Given the description of an element on the screen output the (x, y) to click on. 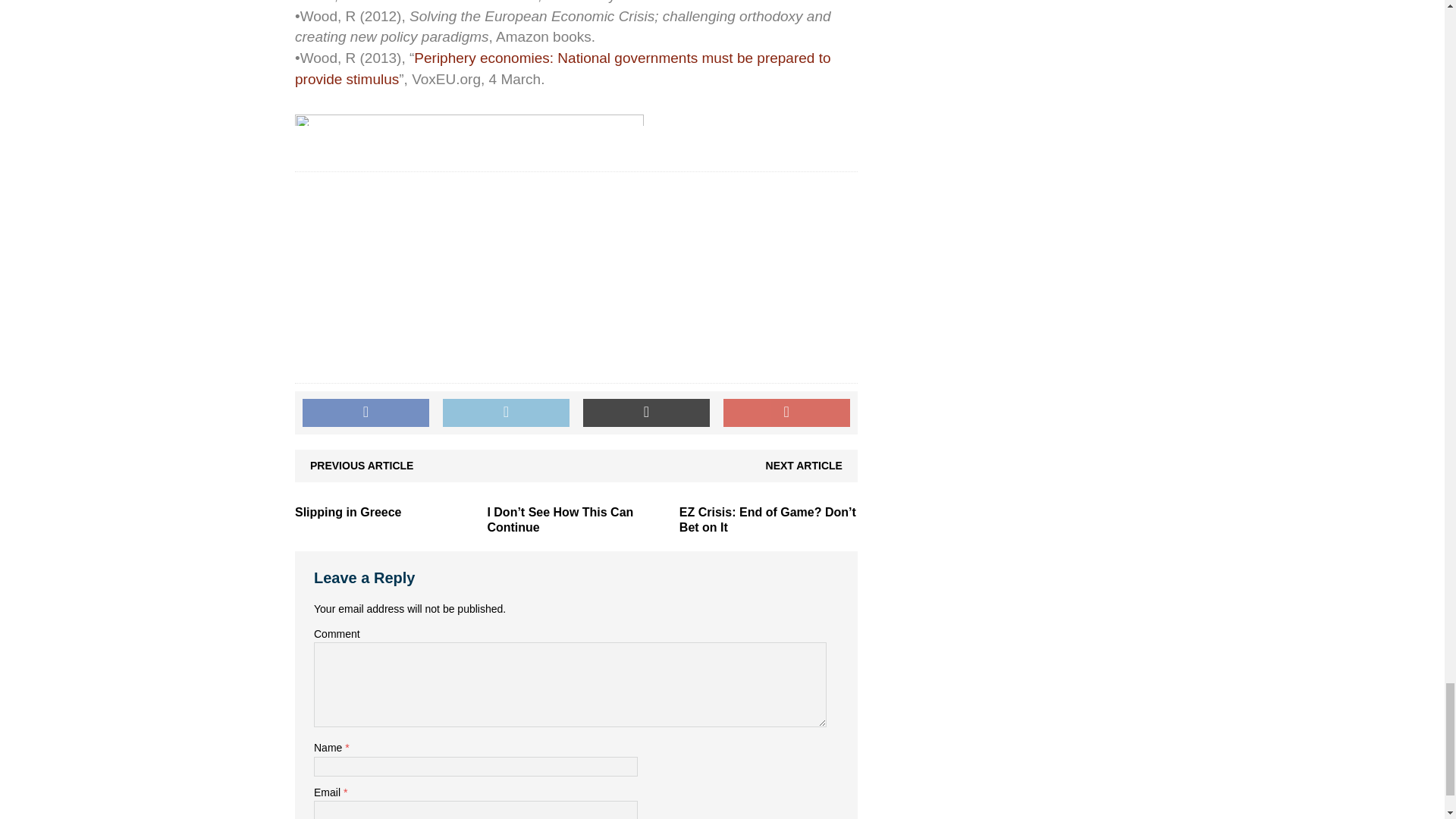
Slipping in Greece (348, 512)
PREVIOUS ARTICLE (361, 465)
Share on Reddit (646, 412)
NEXT ARTICLE (804, 465)
Tweet This Post (505, 412)
Slipping in Greece (348, 512)
Share on Facebook (365, 412)
